Given the description of an element on the screen output the (x, y) to click on. 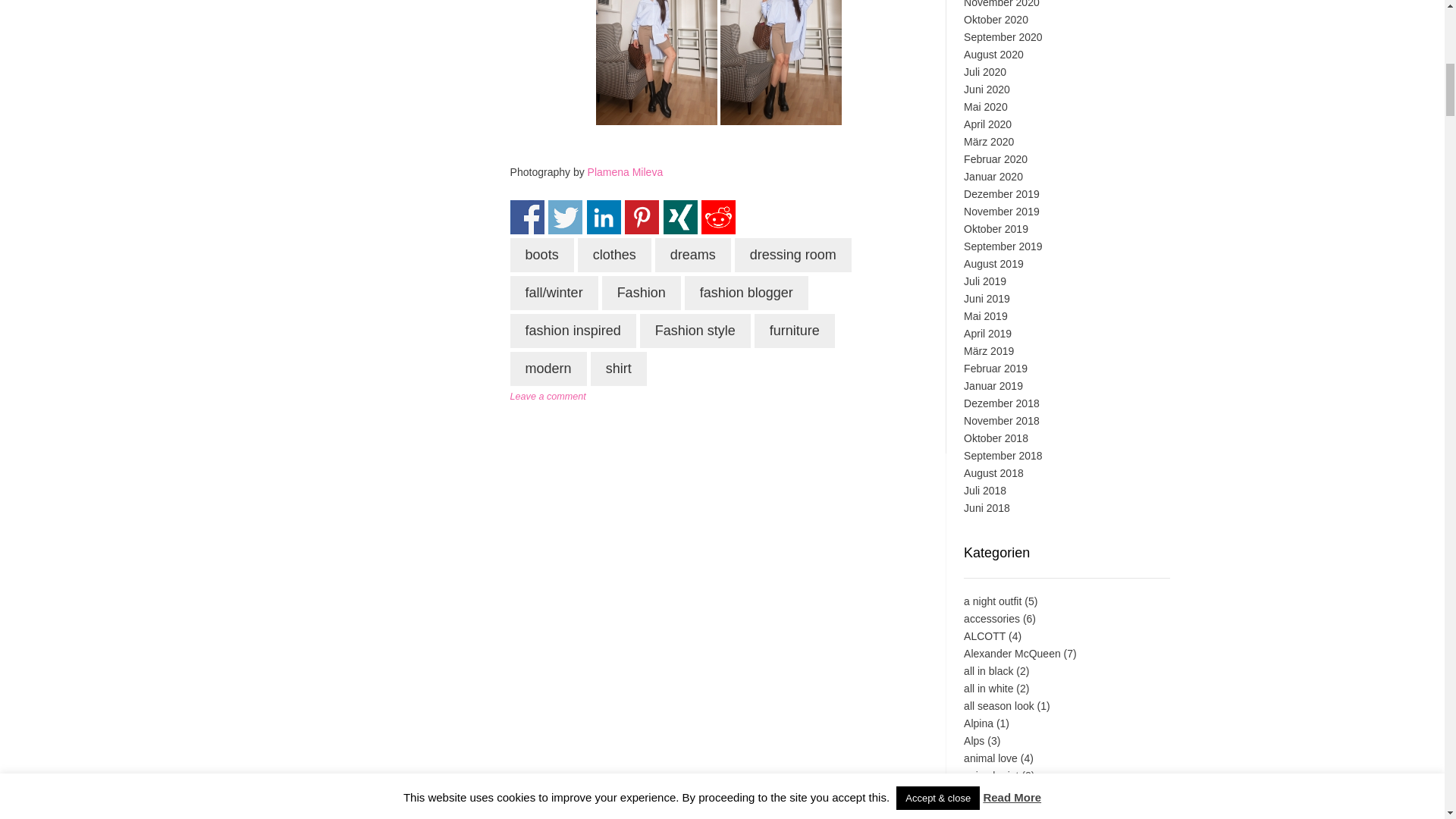
dressing room (793, 254)
Plamena Mileva (625, 172)
boots (542, 254)
Fashion style (695, 330)
fashion blogger (746, 293)
shirt (618, 368)
Fashion (641, 293)
Share on Facebook (527, 216)
furniture (794, 330)
CG7A1202 (780, 62)
